Given the description of an element on the screen output the (x, y) to click on. 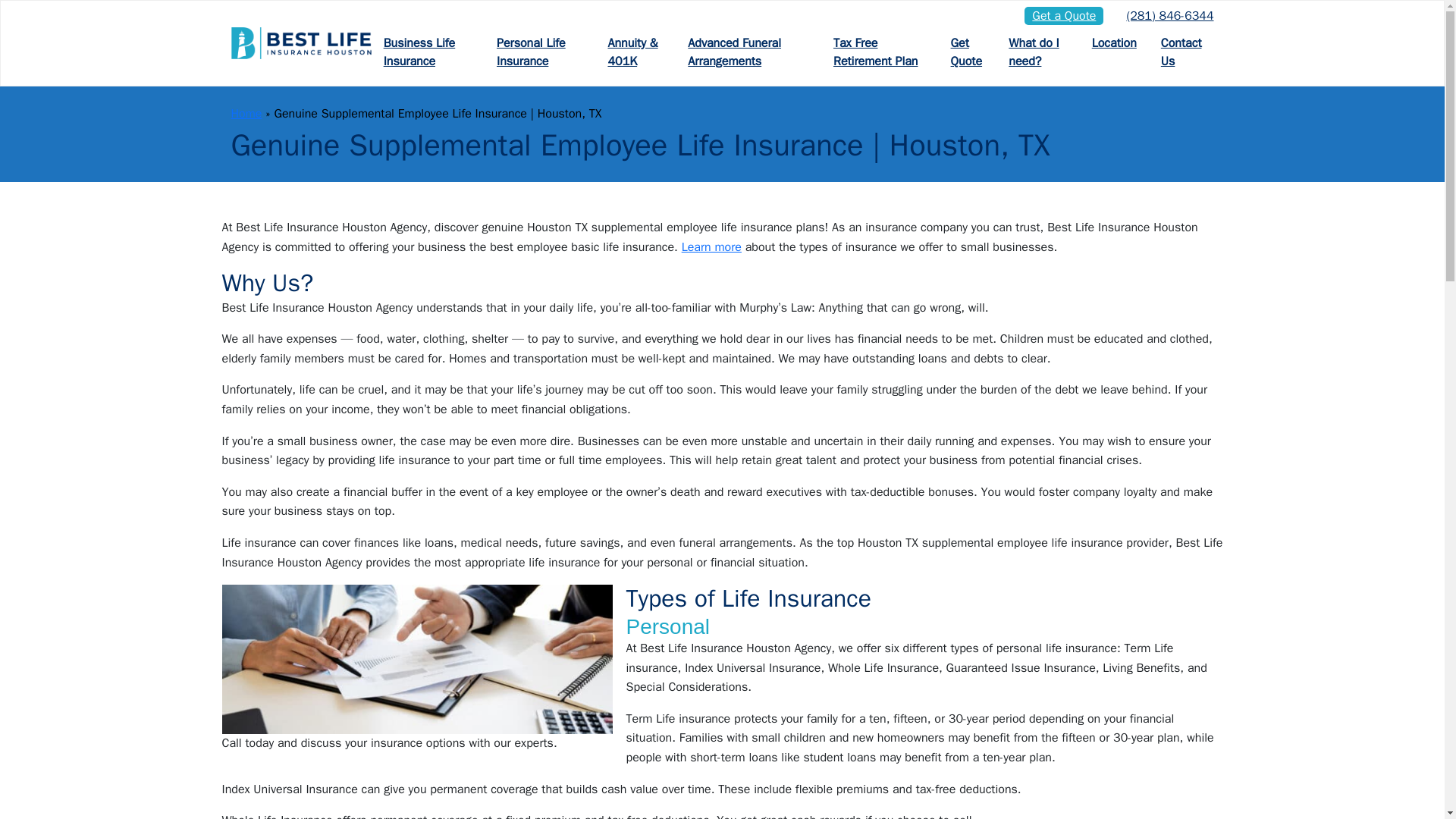
Learn more (711, 246)
What do I need? (1036, 52)
Location (1114, 43)
Tax Free Retirement Plan (880, 52)
Personal Life Insurance (539, 52)
Get a Quote (1064, 15)
Advanced Funeral Arrangements (748, 52)
Home (246, 113)
Contact Us (1181, 52)
Get Quote (968, 52)
Business Life Insurance (427, 52)
